Given the description of an element on the screen output the (x, y) to click on. 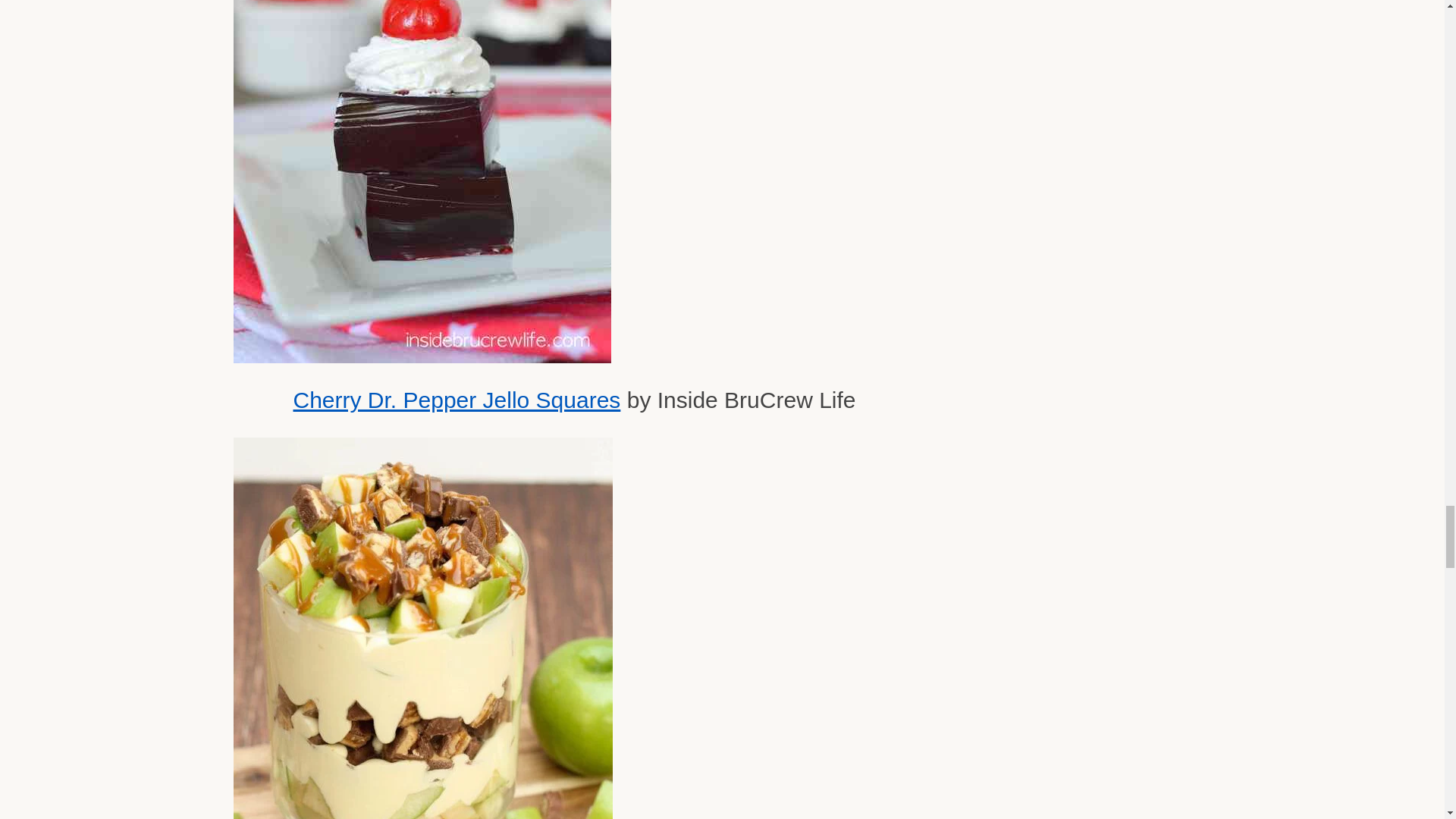
Cherry Dr. Pepper Jello Squares (456, 399)
